Given the description of an element on the screen output the (x, y) to click on. 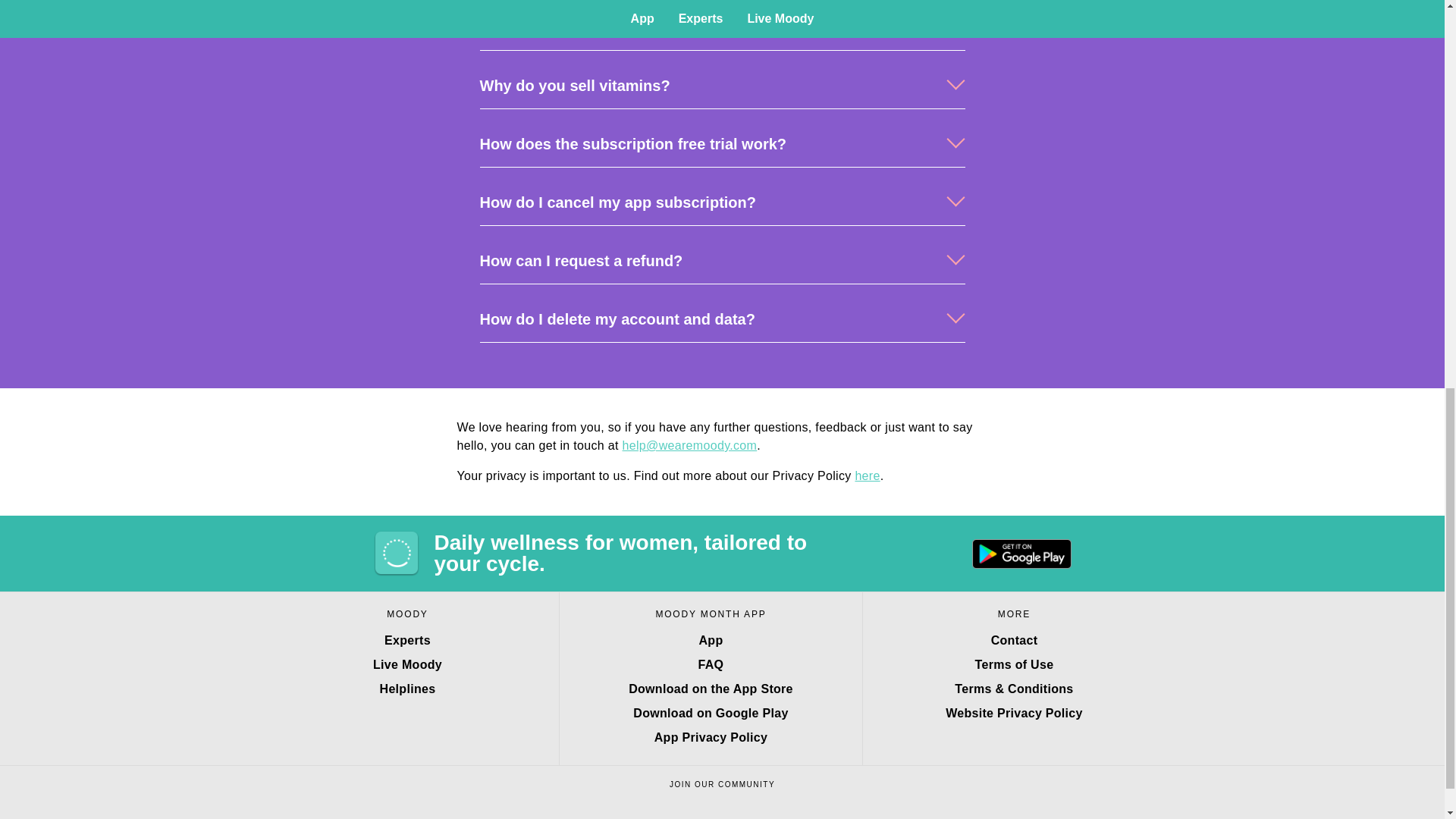
FAQ (710, 664)
Experts (407, 640)
Helplines (407, 689)
here (866, 475)
Live Moody (407, 664)
App (710, 640)
Download on Google Play (710, 713)
Download on the App Store (710, 689)
App Privacy Policy (710, 737)
